Given the description of an element on the screen output the (x, y) to click on. 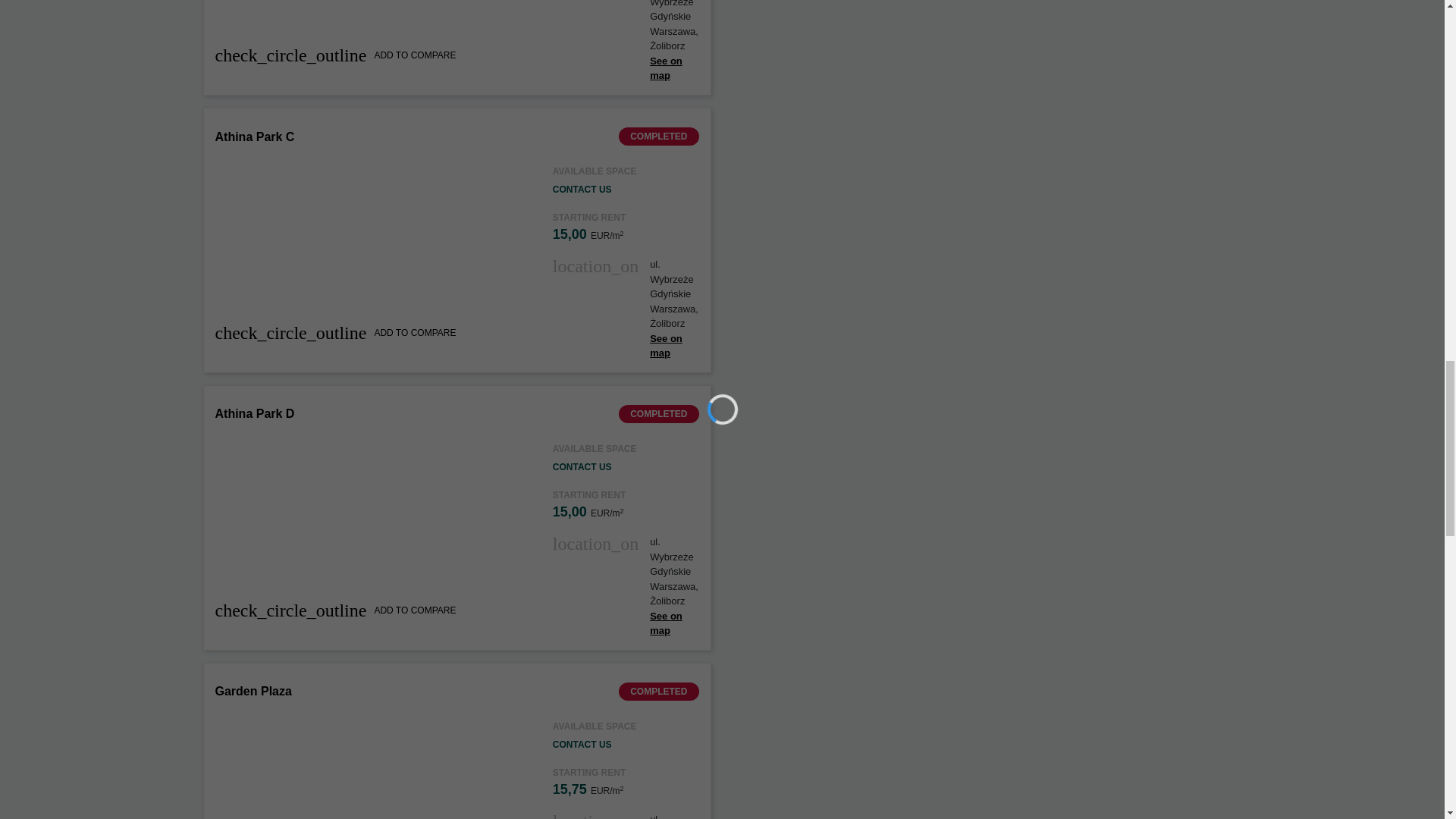
Athina Park C (255, 136)
See on map (665, 68)
